Given the description of an element on the screen output the (x, y) to click on. 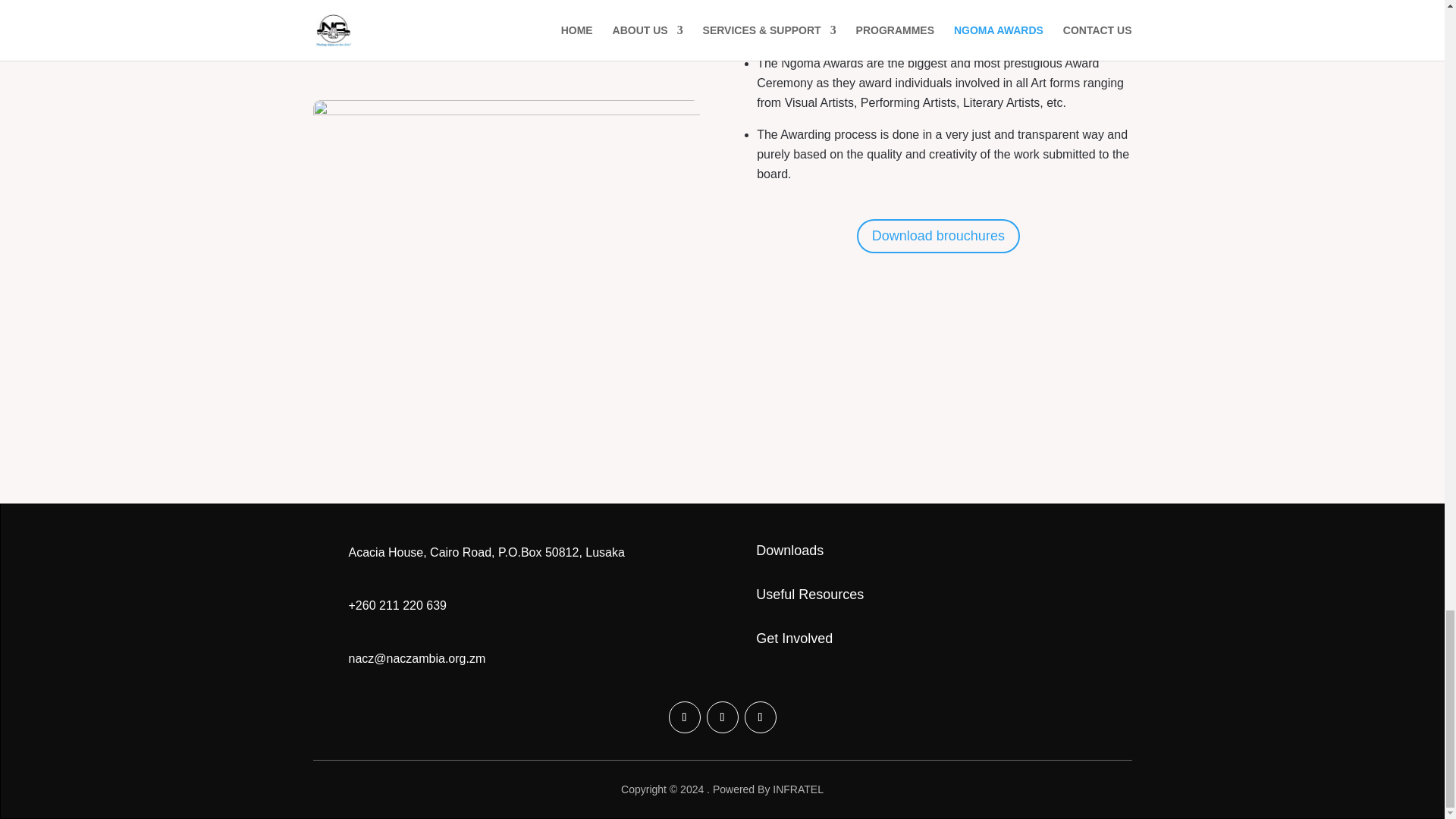
Download brouchures (938, 236)
Useful Resources (809, 594)
Downloads (789, 549)
Get Involved (793, 638)
